Given the description of an element on the screen output the (x, y) to click on. 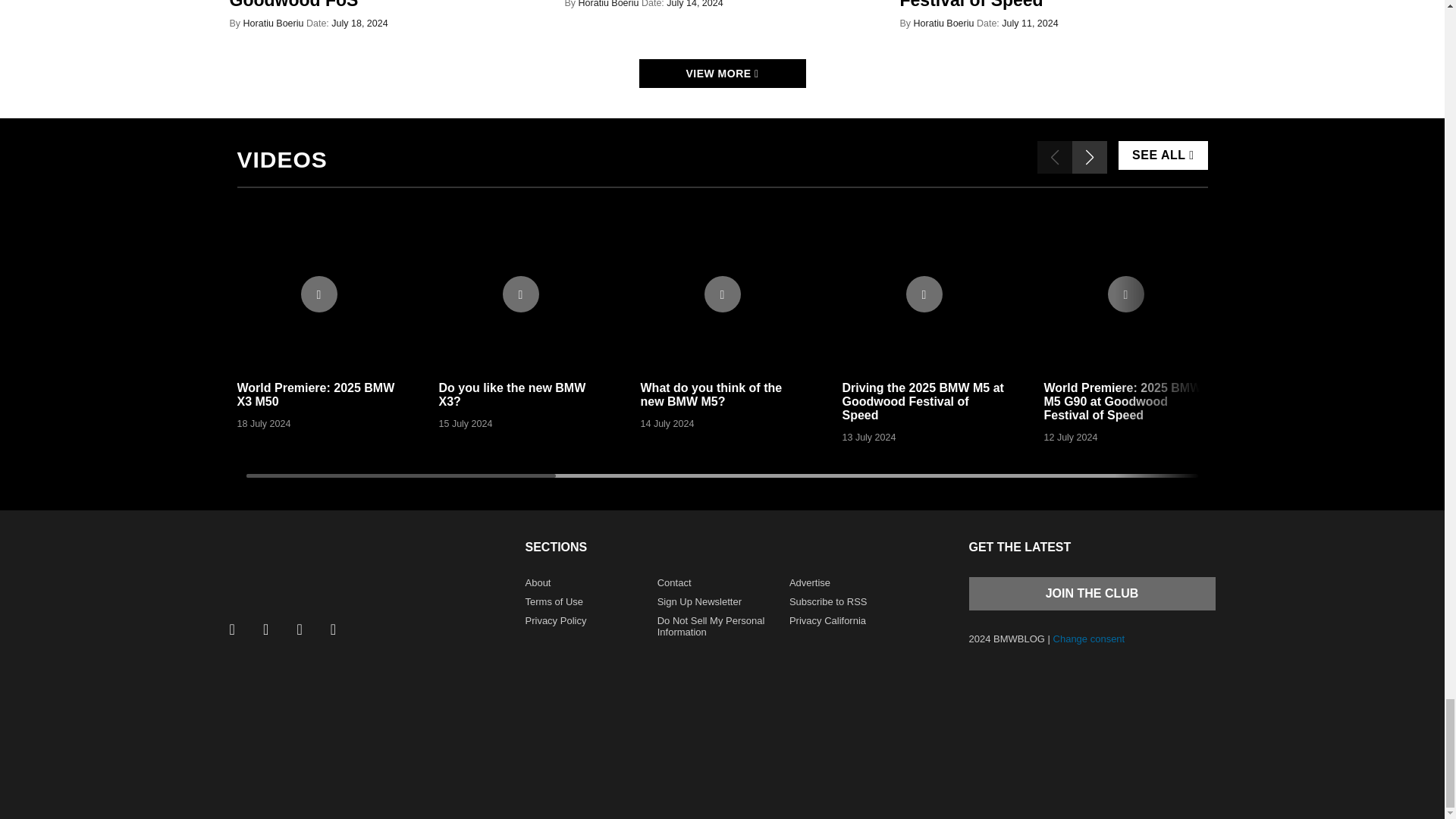
Join the club (1092, 593)
